Given the description of an element on the screen output the (x, y) to click on. 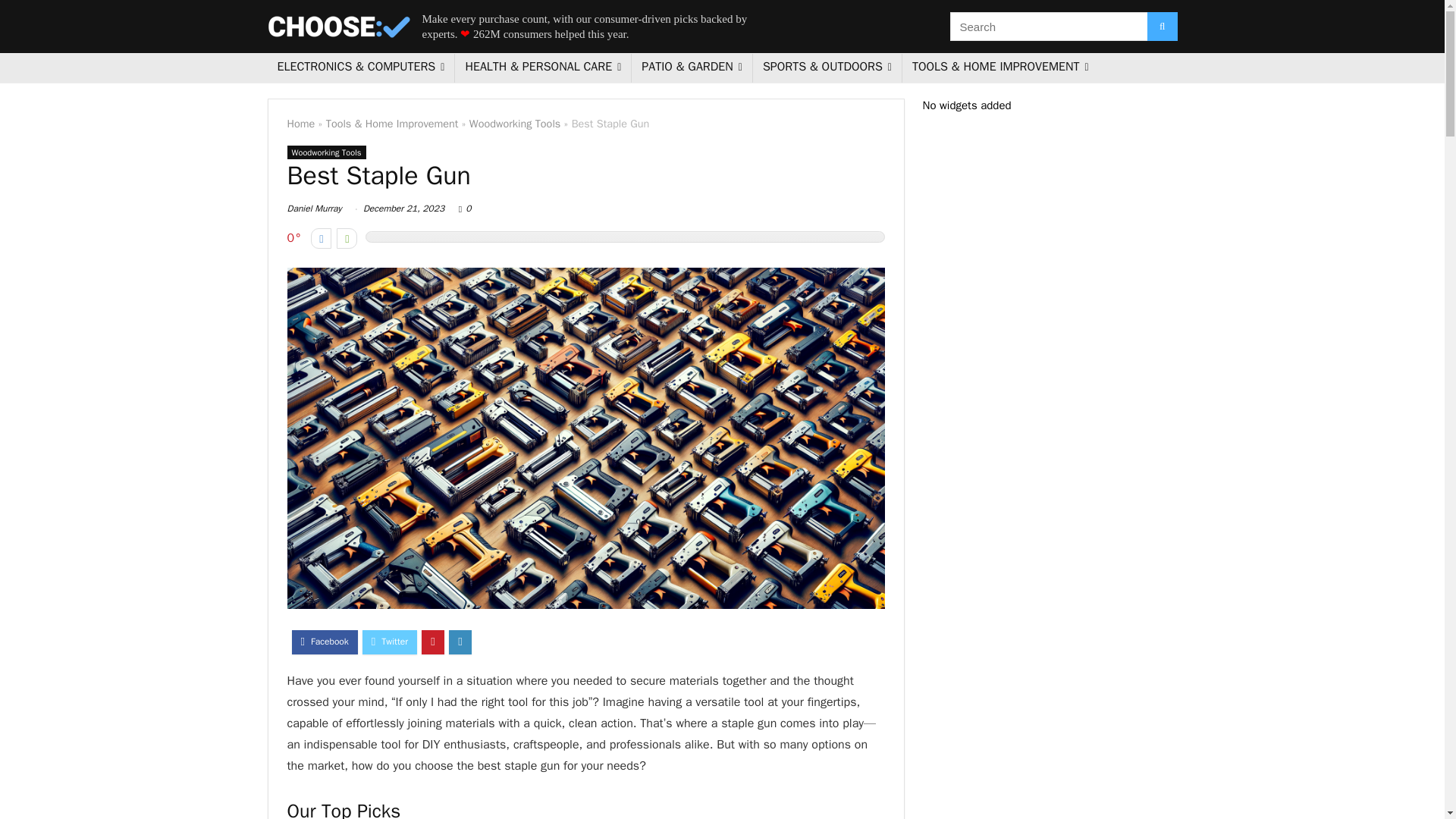
Vote down (321, 238)
View all posts in Woodworking Tools (325, 151)
Vote up (346, 238)
